Given the description of an element on the screen output the (x, y) to click on. 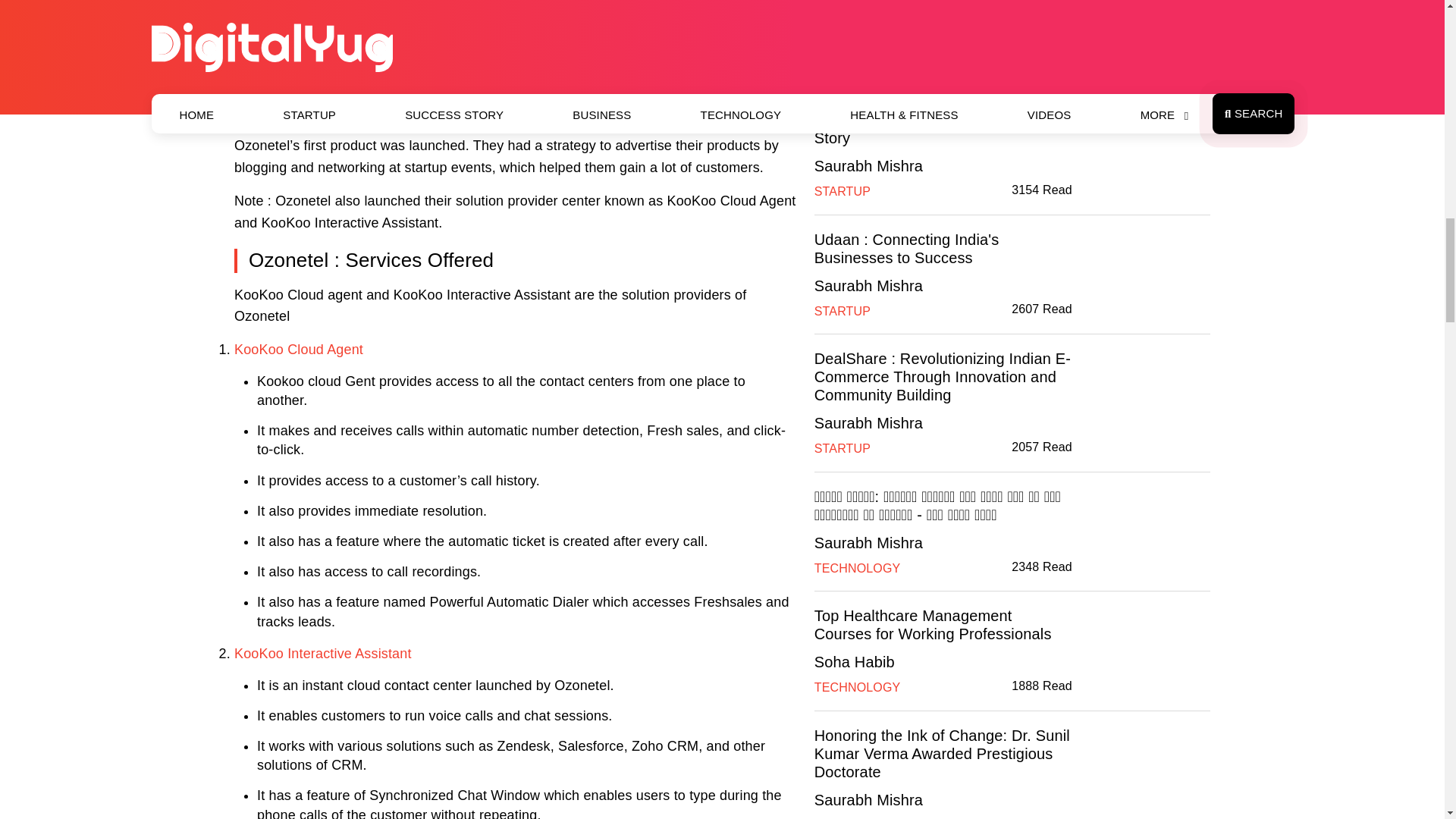
STARTUP (841, 52)
Saurabh Mishra (868, 27)
